Given the description of an element on the screen output the (x, y) to click on. 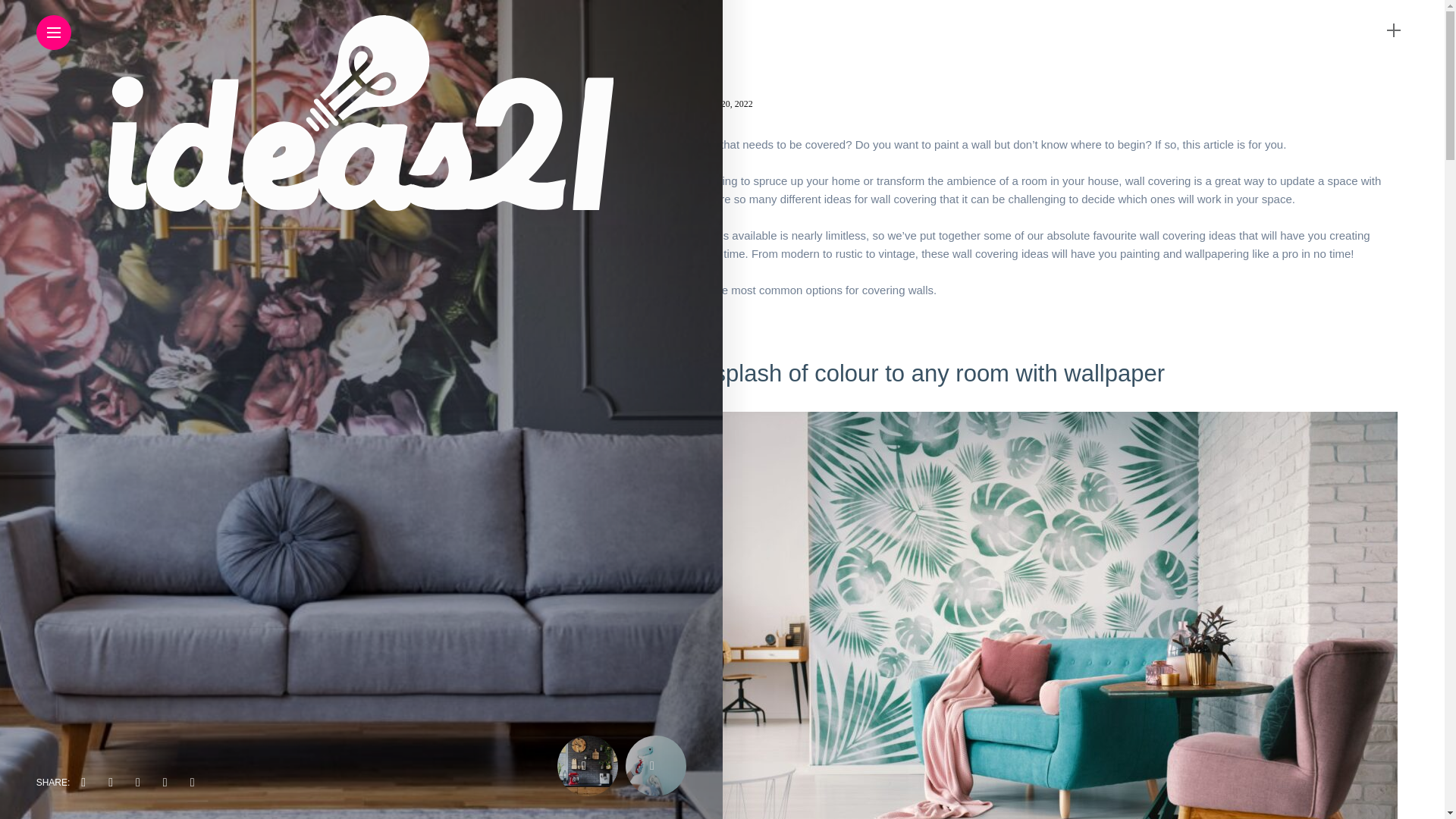
Posts by John Ball (670, 103)
